Given the description of an element on the screen output the (x, y) to click on. 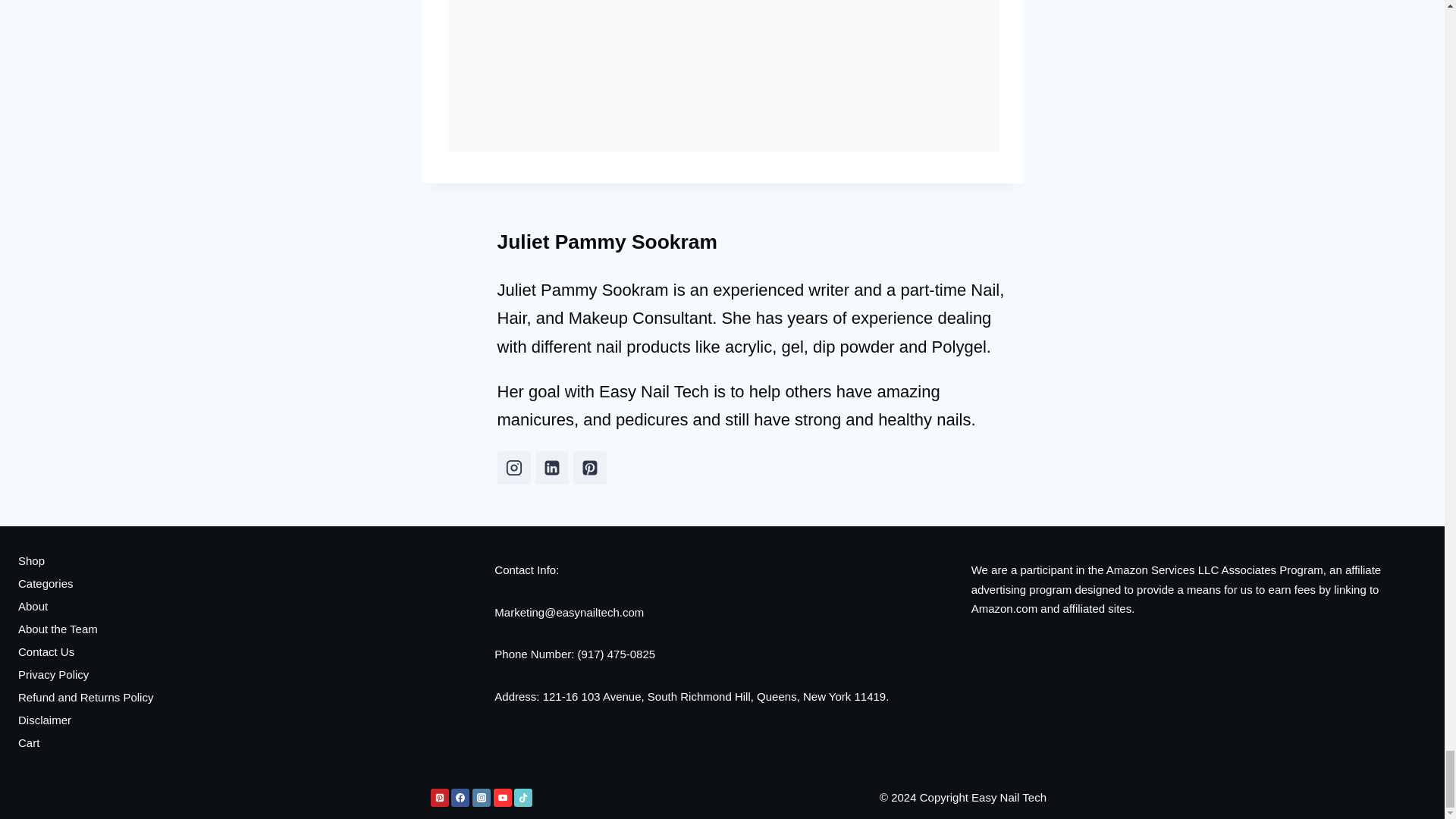
Follow Juliet Pammy Sookram on Instagram (514, 467)
Follow Juliet Pammy Sookram on Pinterest (590, 467)
Follow Juliet Pammy Sookram on Linkedin (552, 467)
Posts by Juliet Pammy Sookram (607, 241)
